Given the description of an element on the screen output the (x, y) to click on. 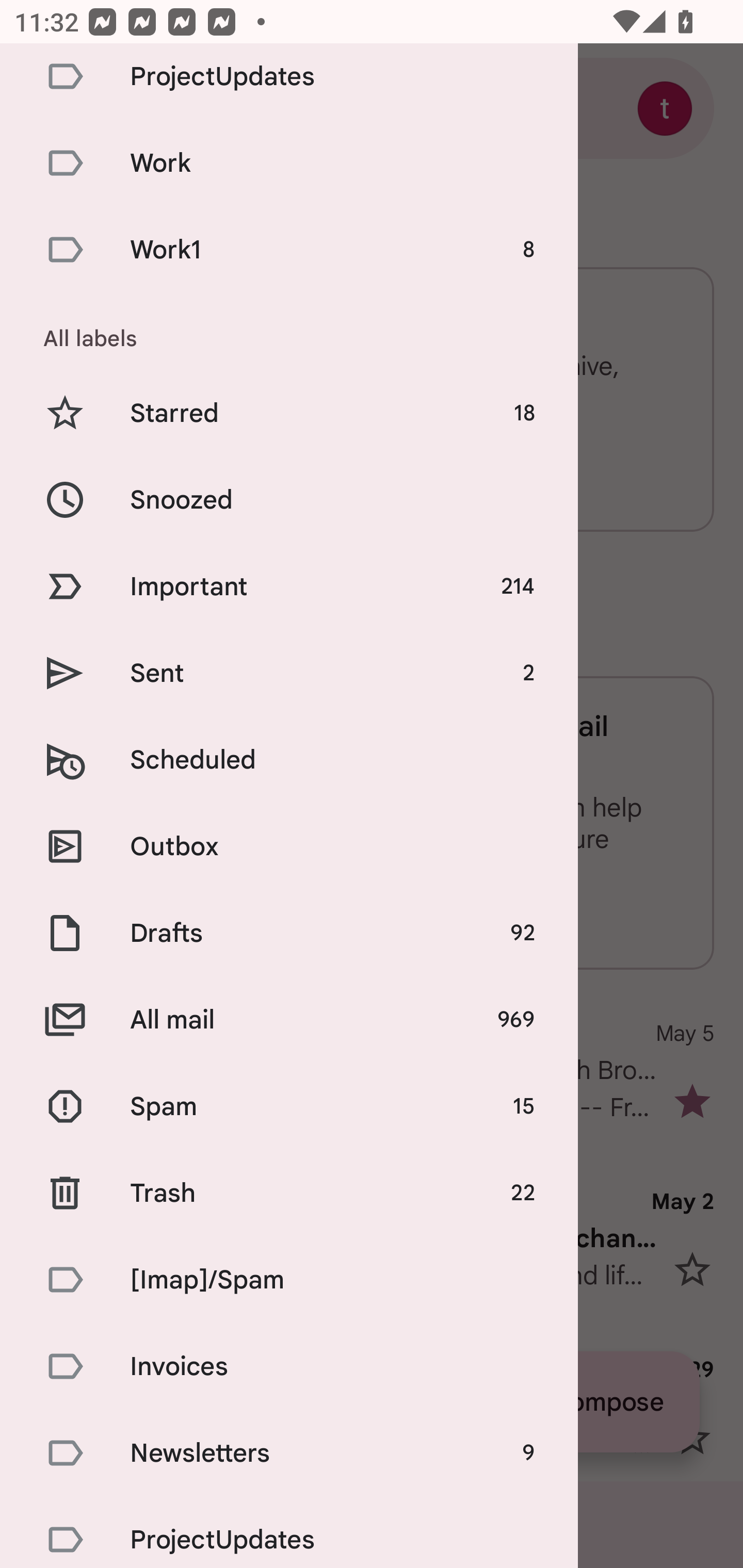
ProjectUpdates (289, 81)
Work (289, 162)
Work1 8 (289, 249)
Starred 18 (289, 413)
Snoozed (289, 499)
Important 214 (289, 586)
Sent 2 (289, 673)
Scheduled (289, 759)
Outbox (289, 845)
Drafts 92 (289, 932)
All mail 969 (289, 1019)
Spam 15 (289, 1106)
Trash 22 (289, 1192)
[Imap]/Spam (289, 1279)
Invoices (289, 1366)
Newsletters 9 (289, 1452)
ProjectUpdates (289, 1531)
